Given the description of an element on the screen output the (x, y) to click on. 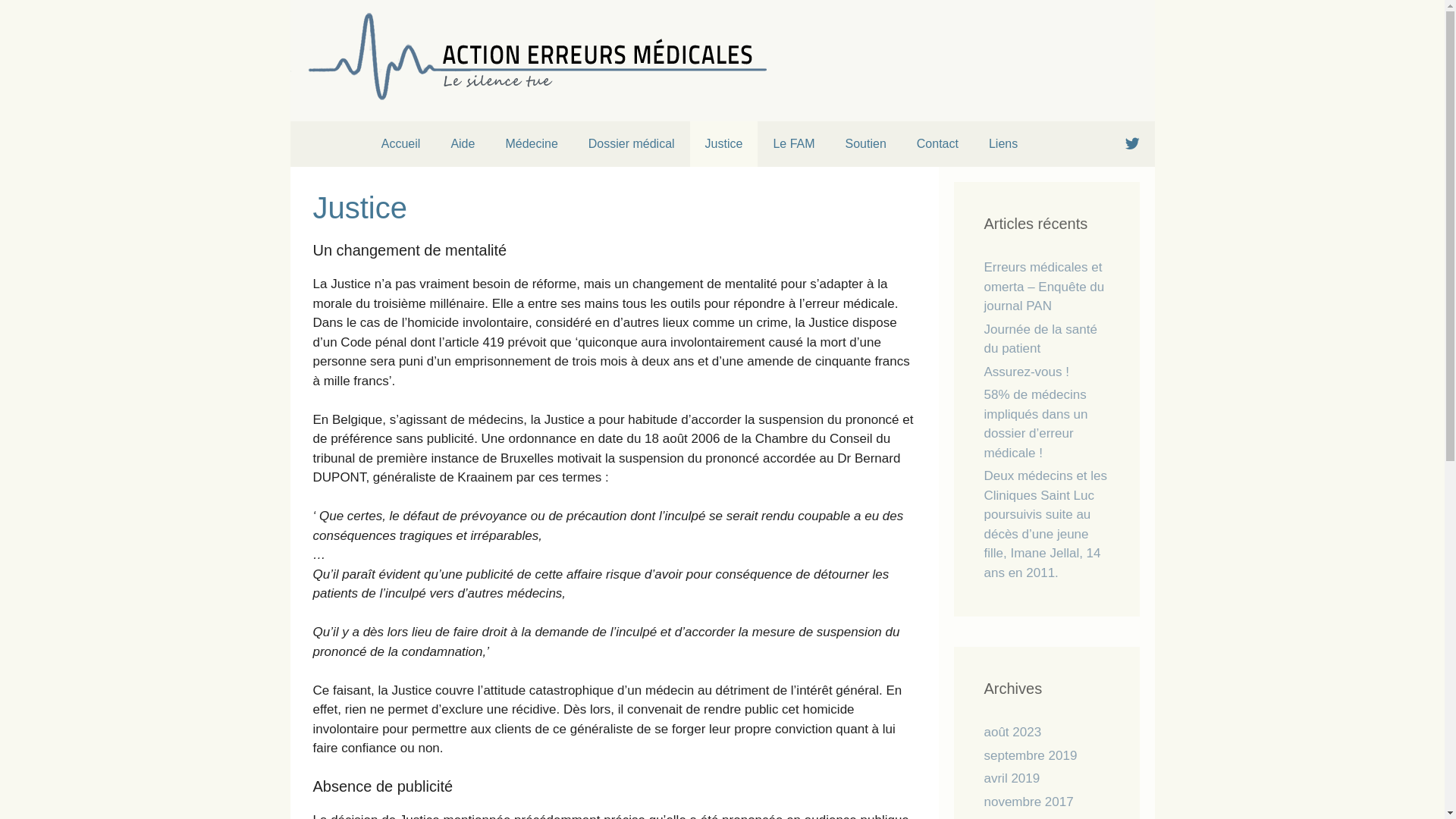
Soutien Element type: text (865, 143)
Contact Element type: text (937, 143)
Justice Element type: text (724, 143)
Le FAM Element type: text (793, 143)
avril 2019 Element type: text (1012, 778)
Aide Element type: text (462, 143)
septembre 2019 Element type: text (1030, 754)
Liens Element type: text (1002, 143)
Accueil Element type: text (401, 143)
Assurez-vous ! Element type: text (1026, 371)
novembre 2017 Element type: text (1028, 801)
